Given the description of an element on the screen output the (x, y) to click on. 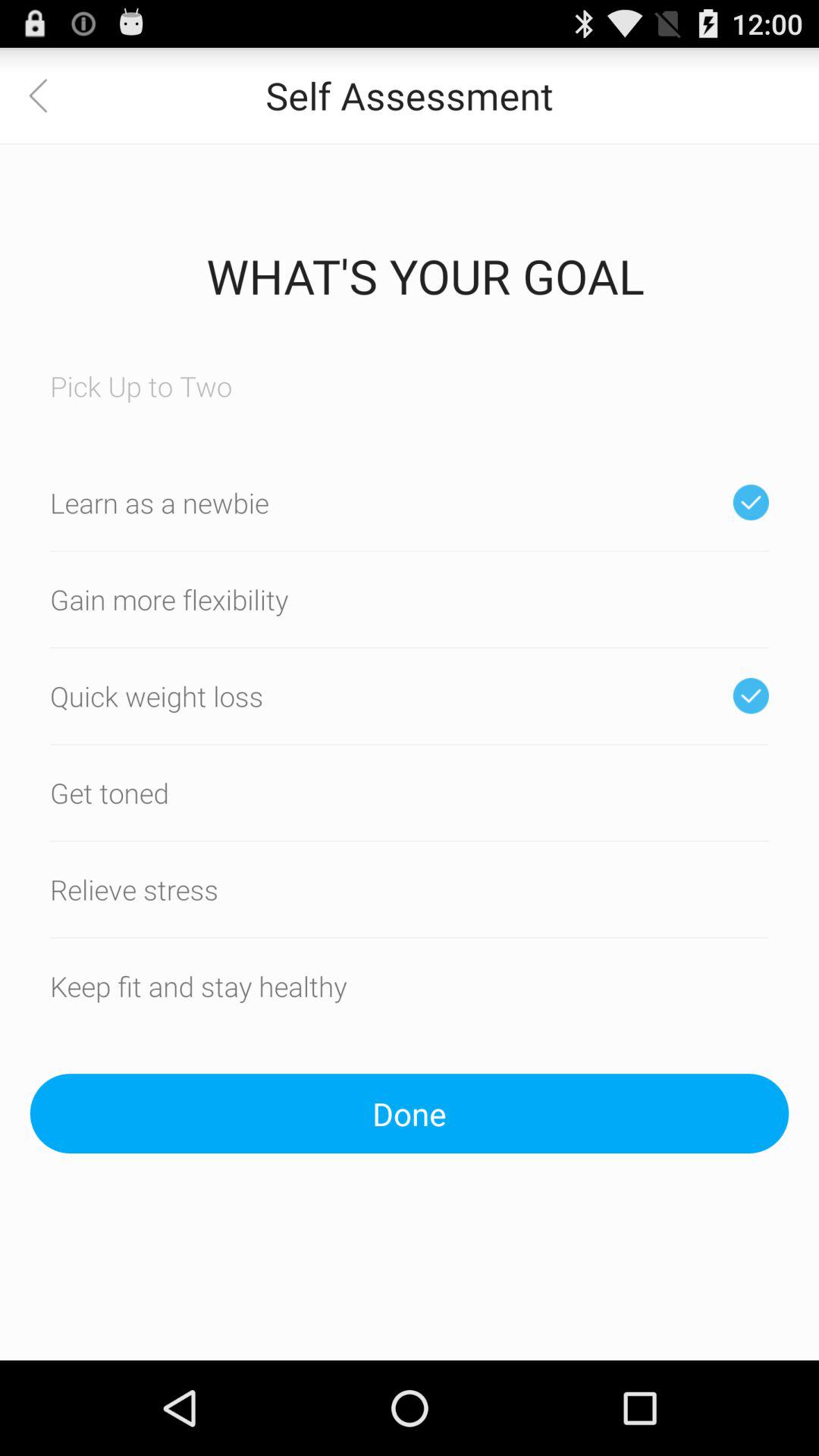
click done at the bottom (409, 1113)
